Given the description of an element on the screen output the (x, y) to click on. 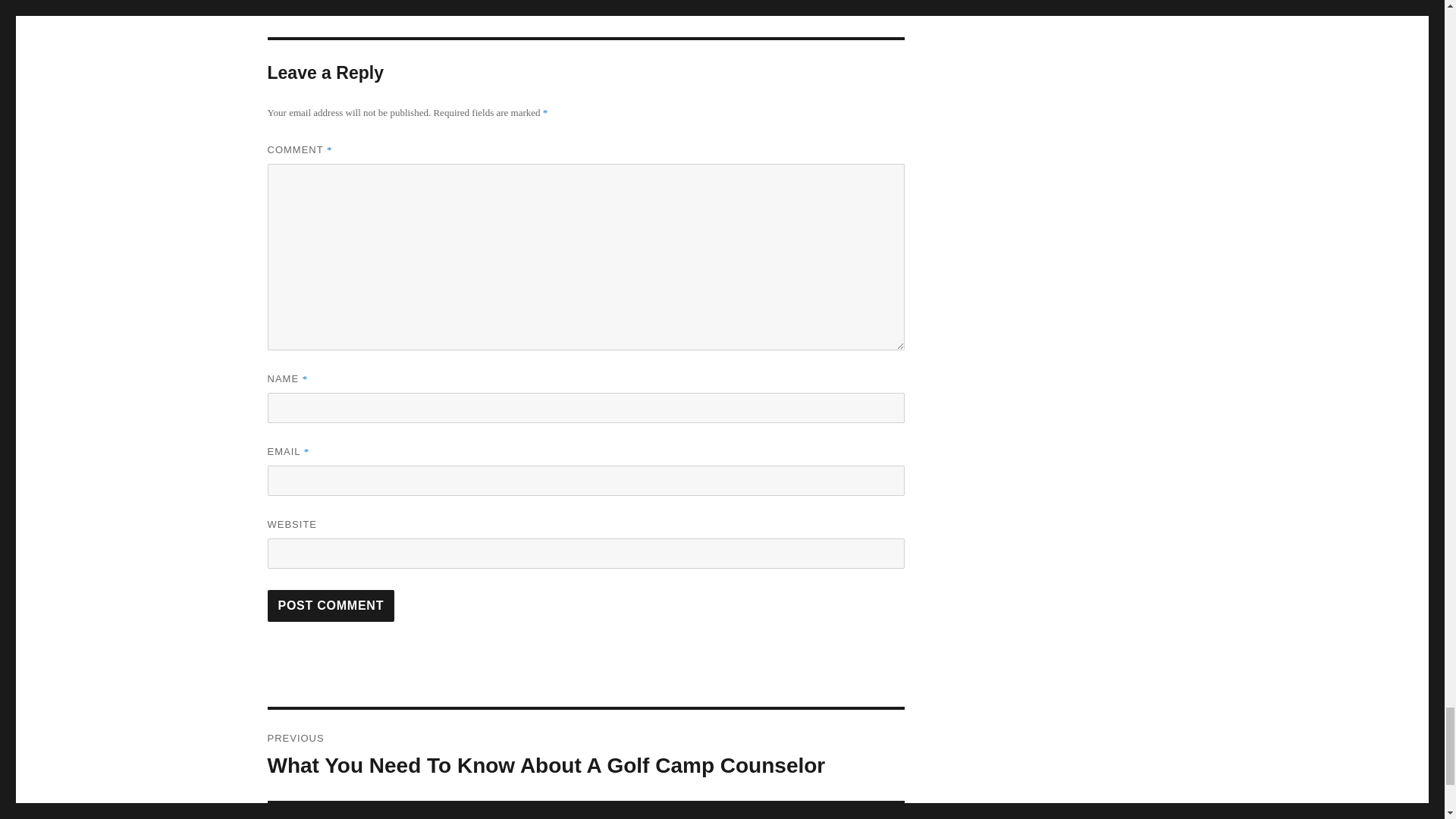
Post Comment (330, 605)
Post Comment (330, 605)
